Given the description of an element on the screen output the (x, y) to click on. 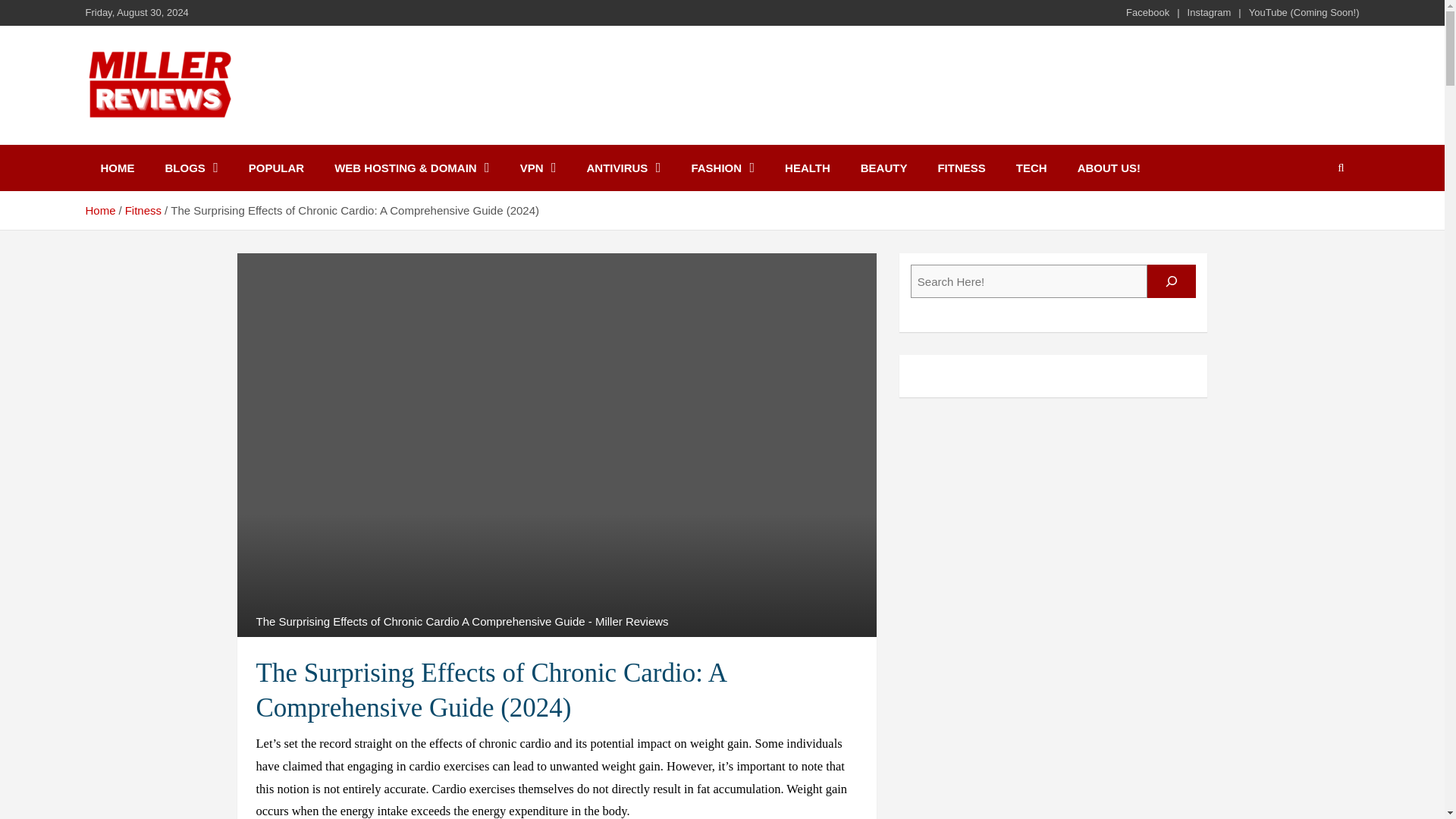
Miller Reviews (189, 141)
Facebook (1147, 12)
HOME (116, 167)
BLOGS (190, 167)
Instagram (1209, 12)
POPULAR (275, 167)
